Given the description of an element on the screen output the (x, y) to click on. 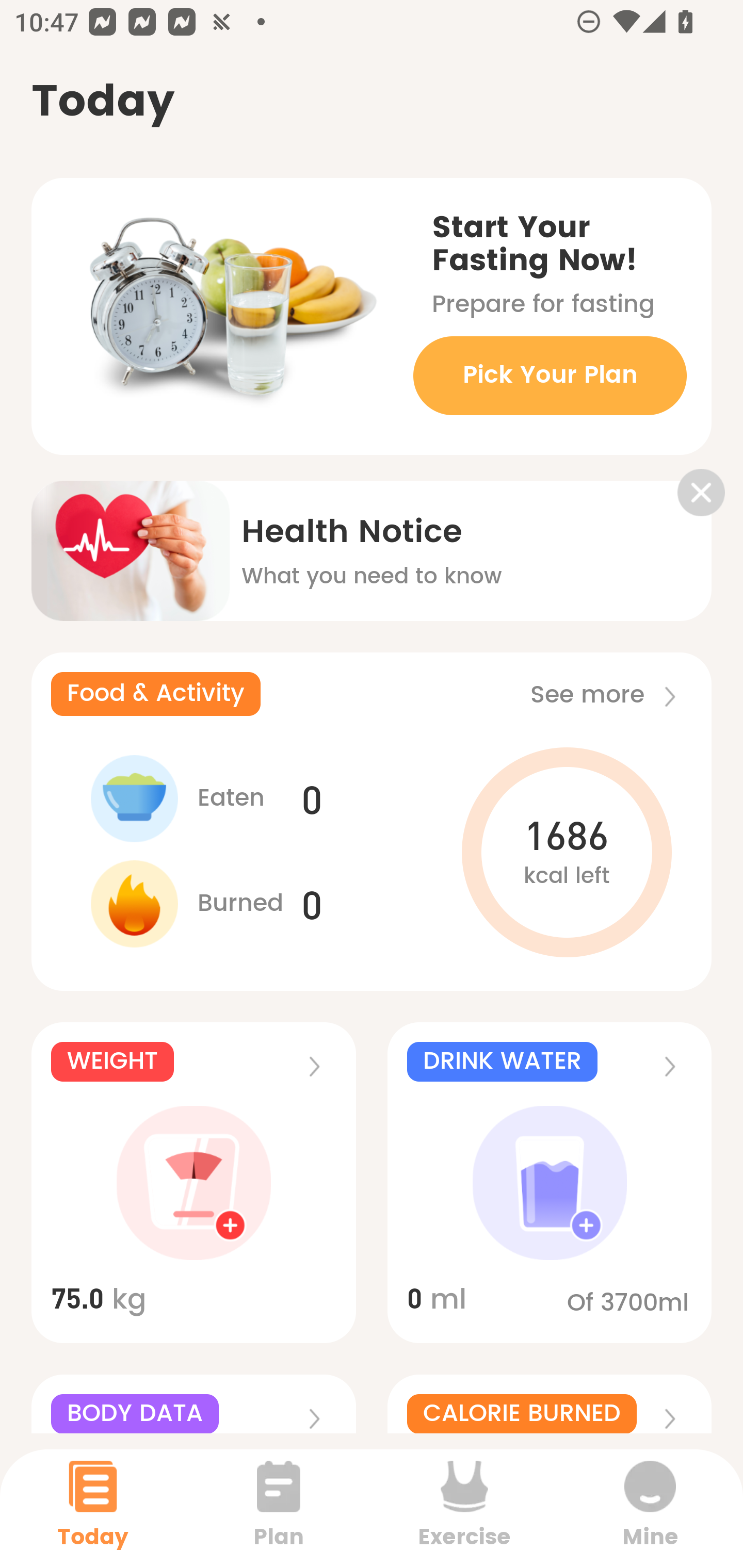
Pick Your Plan (549, 375)
Health Notice What you need to know (371, 537)
WEIGHT 75.0 kg (193, 1182)
DRINK WATER 0 ml Of 3700ml (549, 1182)
BODY DATA (193, 1404)
CALORIE BURNED (549, 1404)
Plan (278, 1508)
Exercise (464, 1508)
Mine (650, 1508)
